Given the description of an element on the screen output the (x, y) to click on. 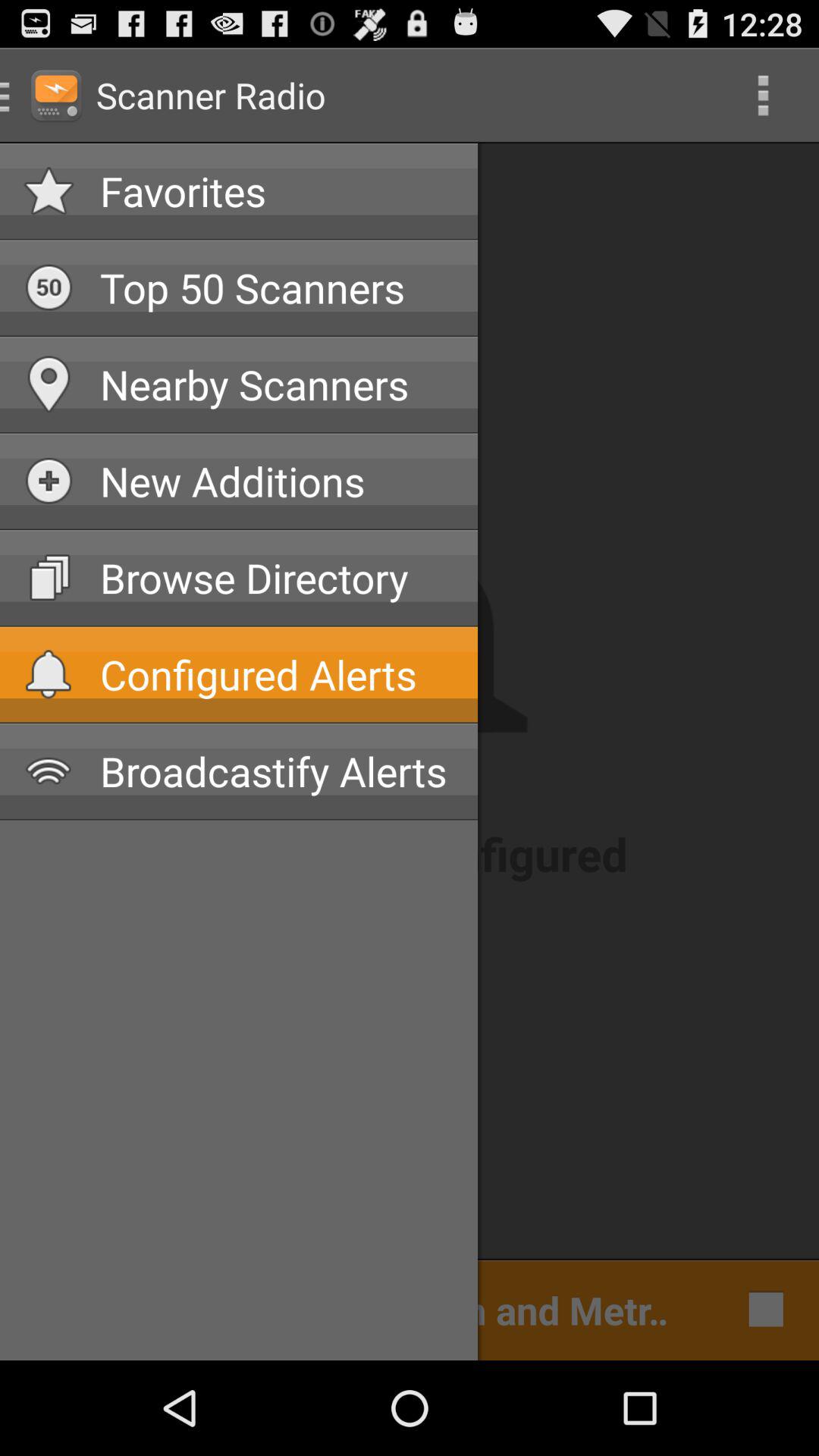
turn off the icon at the bottom right corner (762, 1309)
